Given the description of an element on the screen output the (x, y) to click on. 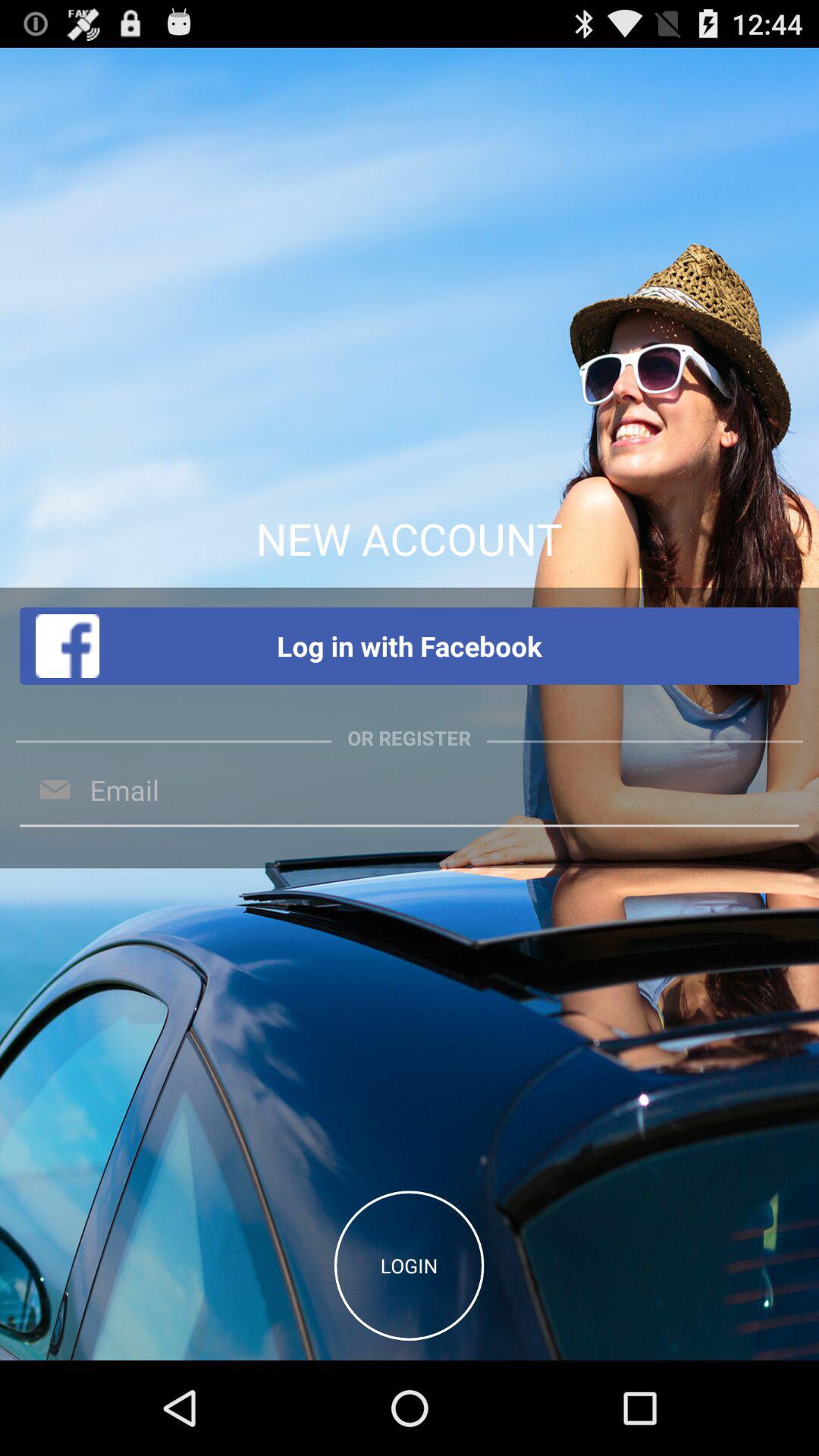
select log in with (409, 645)
